Given the description of an element on the screen output the (x, y) to click on. 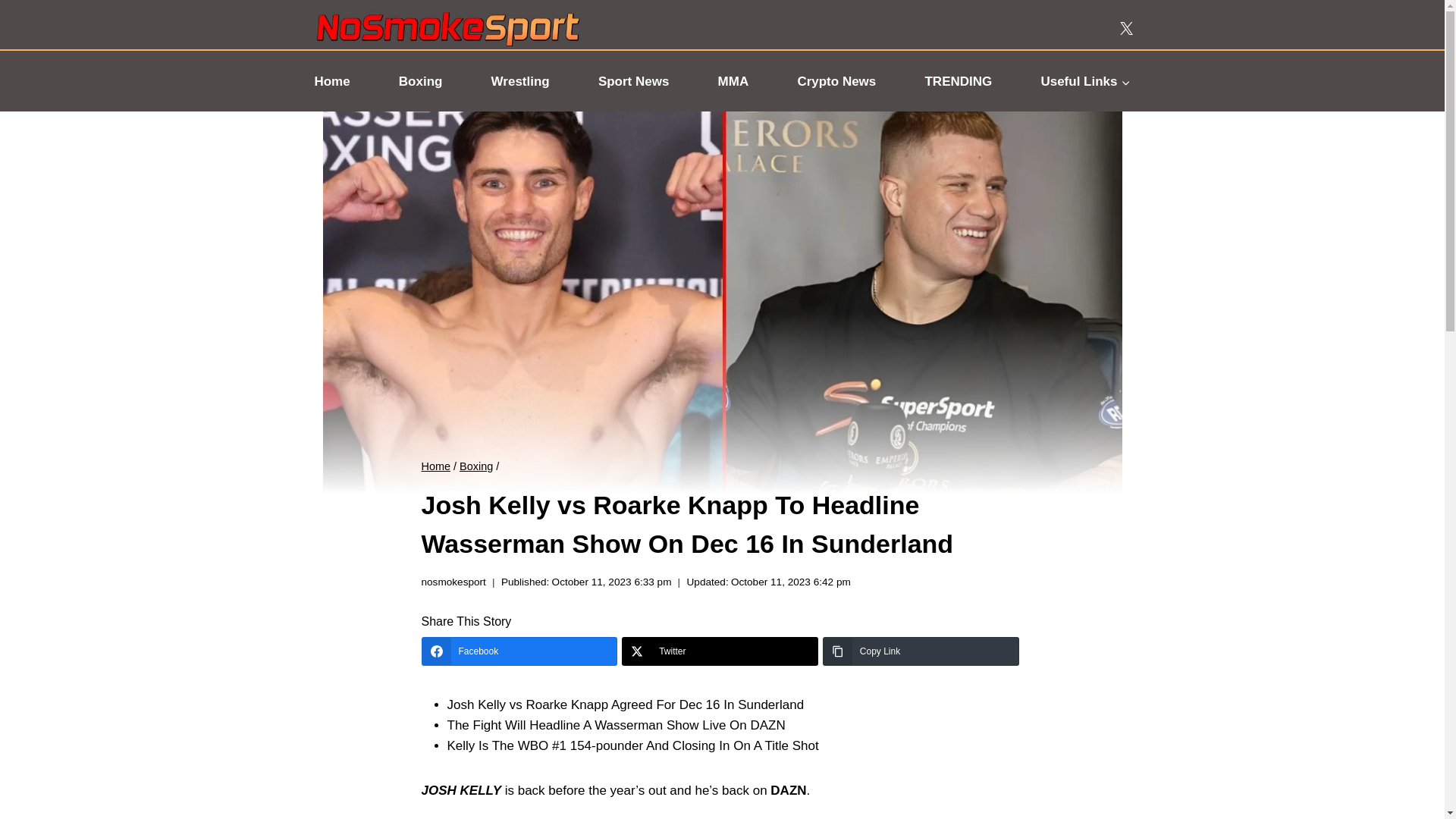
nosmokesport (454, 582)
Home (331, 81)
Wrestling (520, 81)
Boxing (420, 81)
Boxing (476, 466)
Sport News (633, 81)
Home (436, 466)
TRENDING (958, 81)
MMA (733, 81)
